Given the description of an element on the screen output the (x, y) to click on. 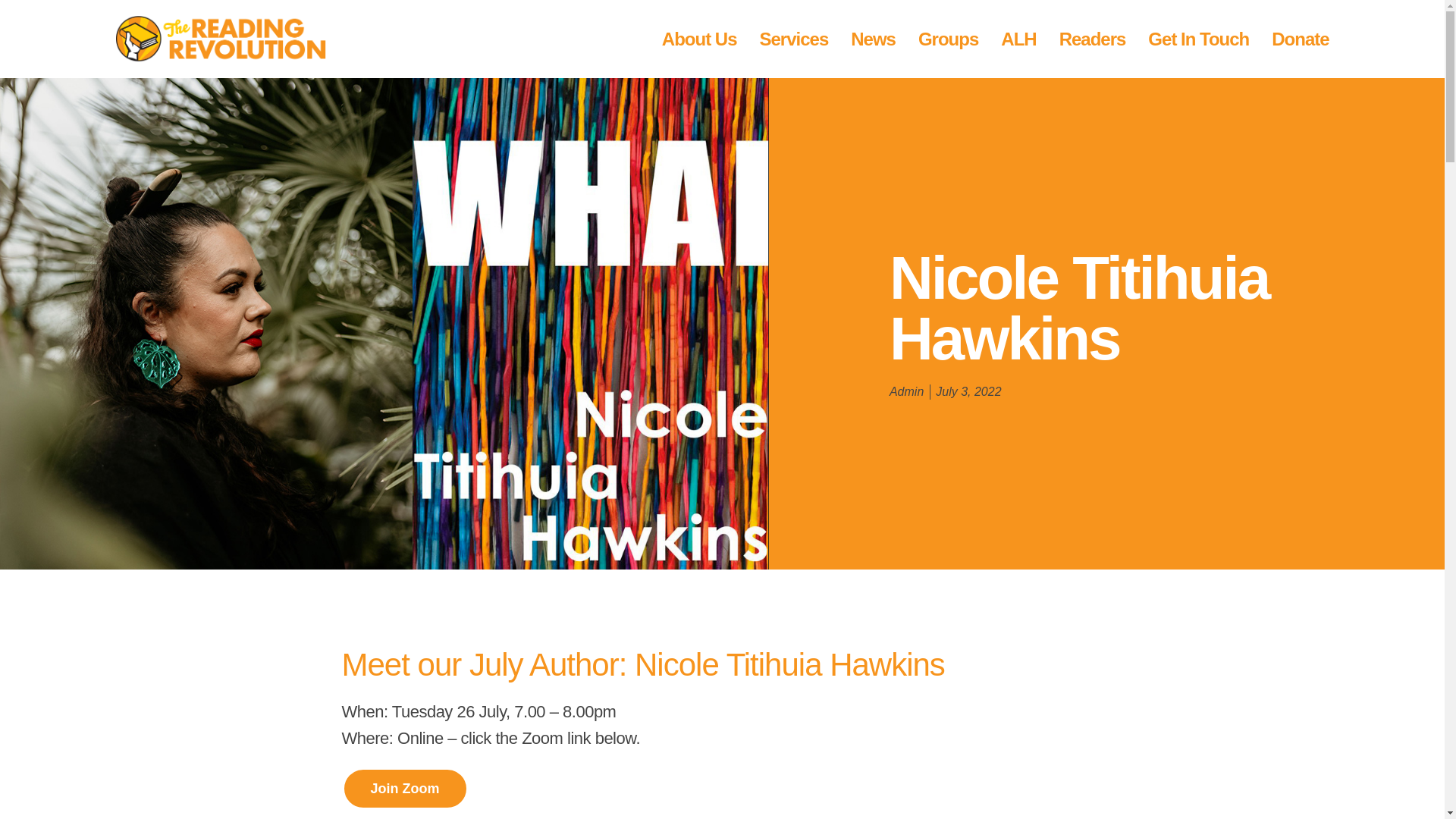
Get In Touch (1198, 38)
Readers (1092, 38)
Groups (948, 38)
About Us (699, 38)
Services (793, 38)
News (872, 38)
Join Zoom (403, 788)
Donate (1299, 38)
ALH (1018, 38)
